Given the description of an element on the screen output the (x, y) to click on. 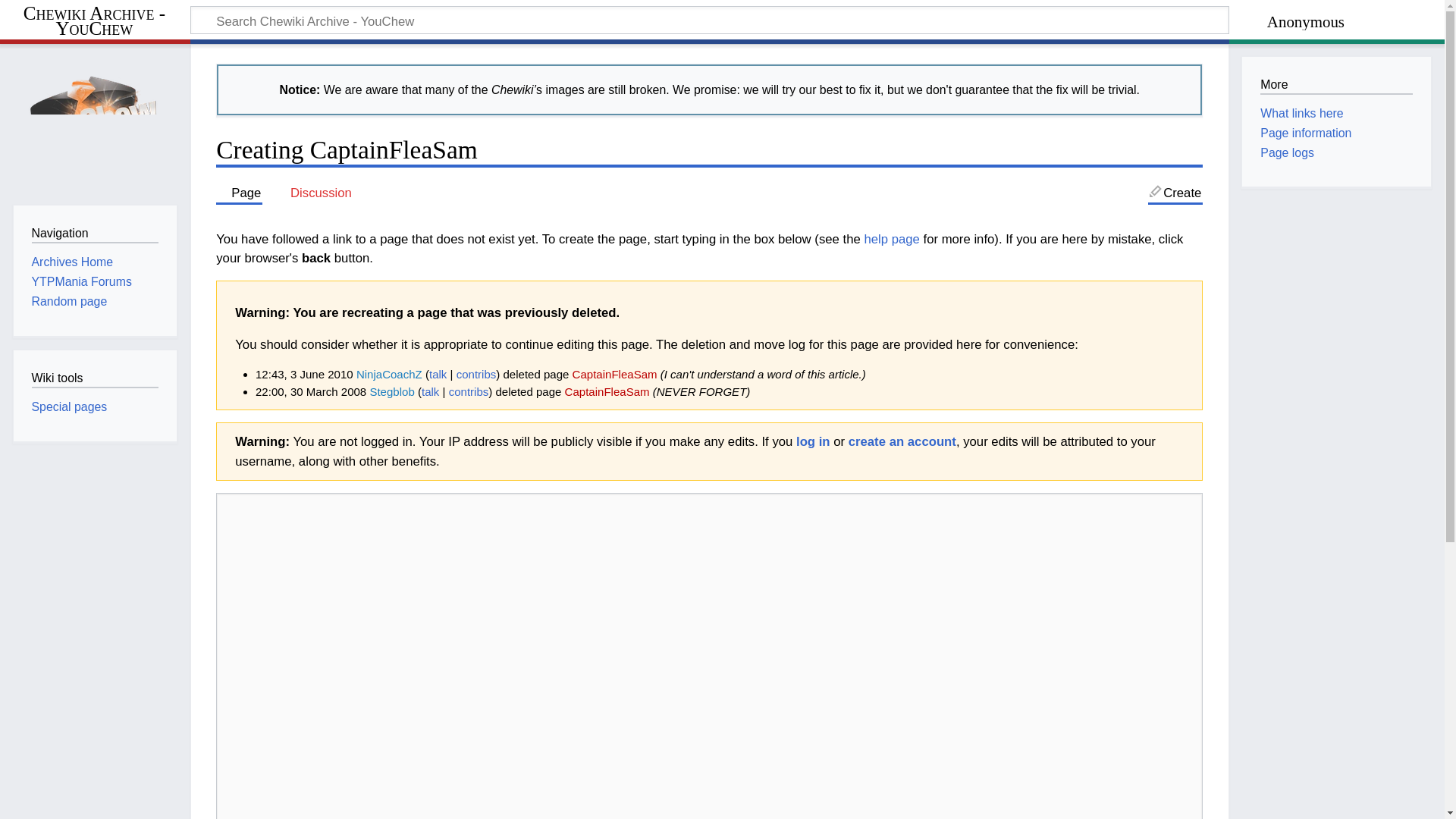
Page (238, 192)
log in (812, 441)
User talk:Stegblob (430, 391)
talk (437, 373)
Archives Home (72, 261)
Go (1193, 22)
create an account (902, 441)
Search the pages for this text (1193, 22)
Go (1193, 22)
User:NinjaCoachZ (389, 373)
contribs (468, 391)
talk (430, 391)
Edit this page (1175, 192)
Create (1175, 192)
Discussion (314, 192)
